Given the description of an element on the screen output the (x, y) to click on. 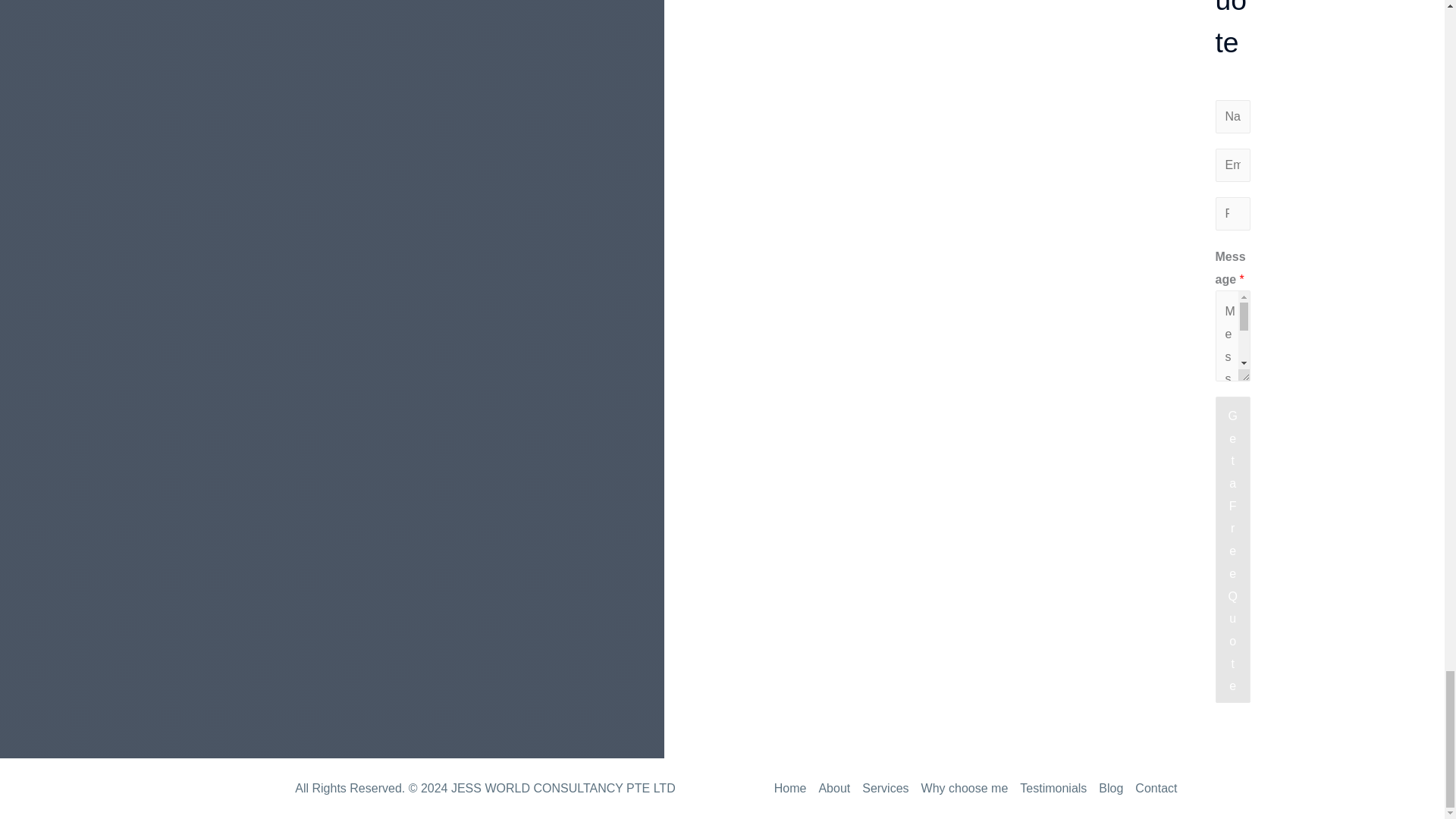
Services (885, 788)
Blog (1111, 788)
Why choose me (964, 788)
Home (793, 788)
Testimonials (1053, 788)
Contact (1152, 788)
About (834, 788)
